Given the description of an element on the screen output the (x, y) to click on. 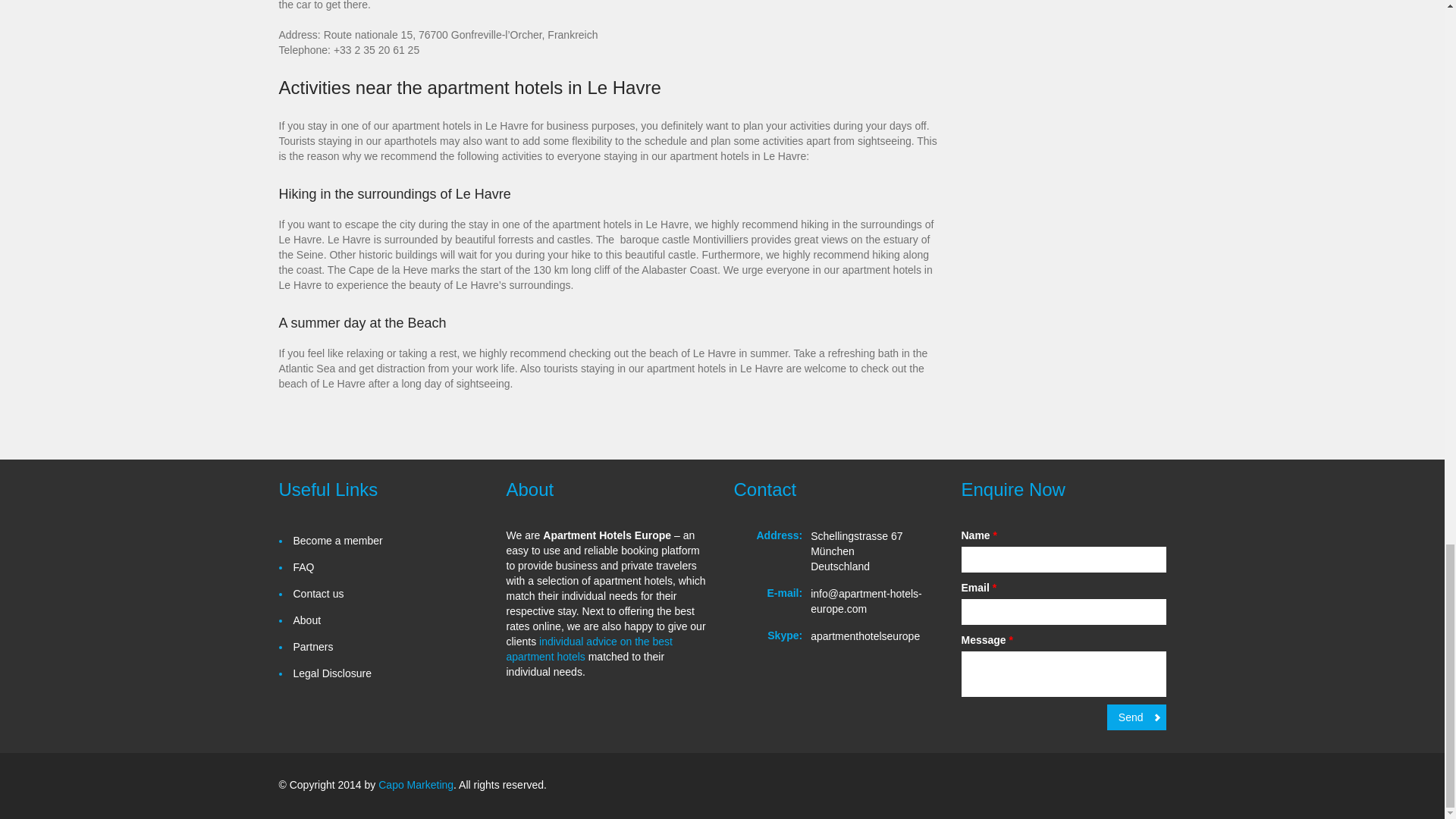
Become a member of Apartment Hotels Europe (336, 540)
Apartment Agent (589, 648)
About the Apartment Hotels Europe (306, 620)
Contact to Apartment Hotels Europe (317, 593)
